Given the description of an element on the screen output the (x, y) to click on. 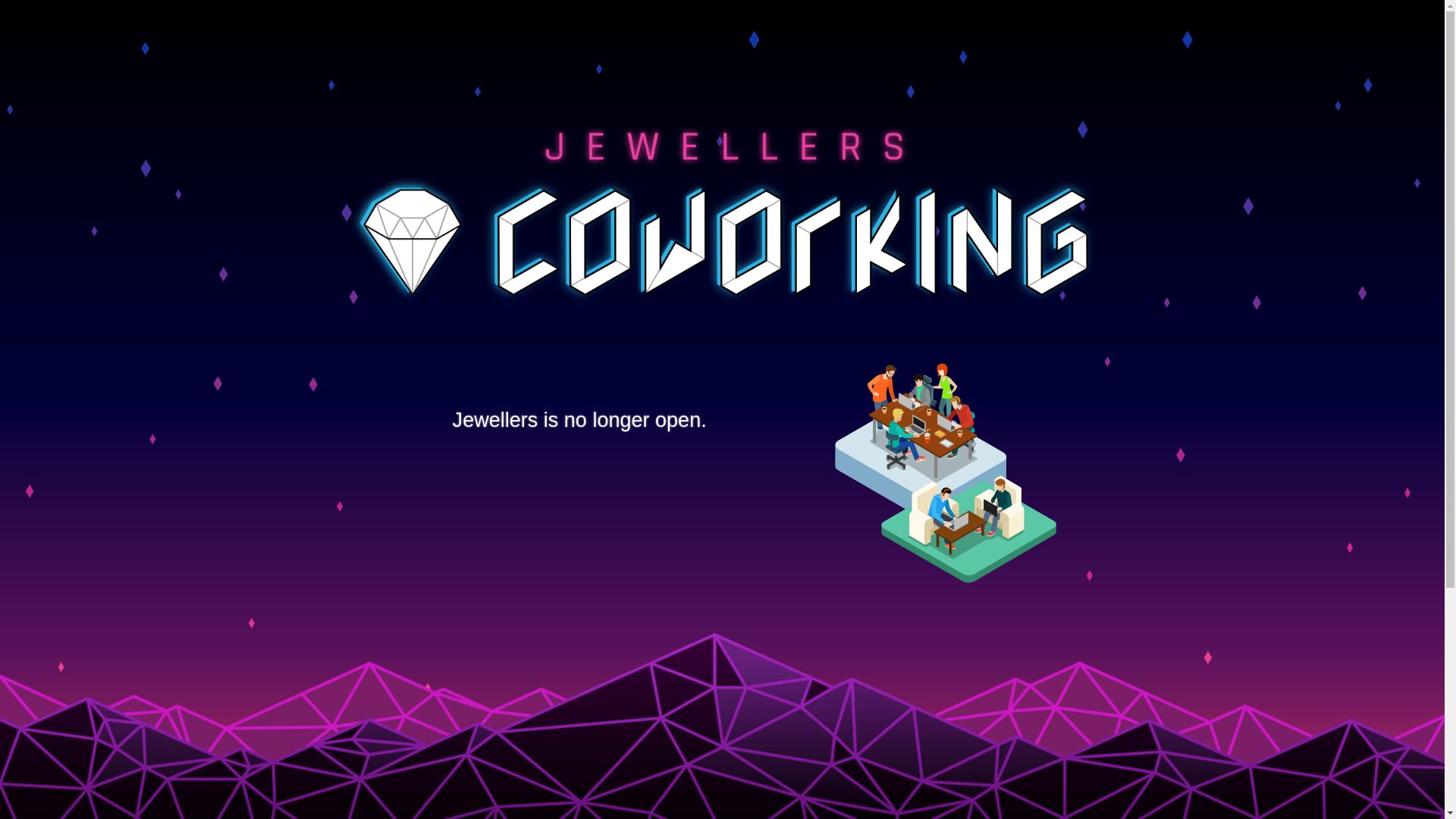
Skip to content Element type: text (0, 0)
